Given the description of an element on the screen output the (x, y) to click on. 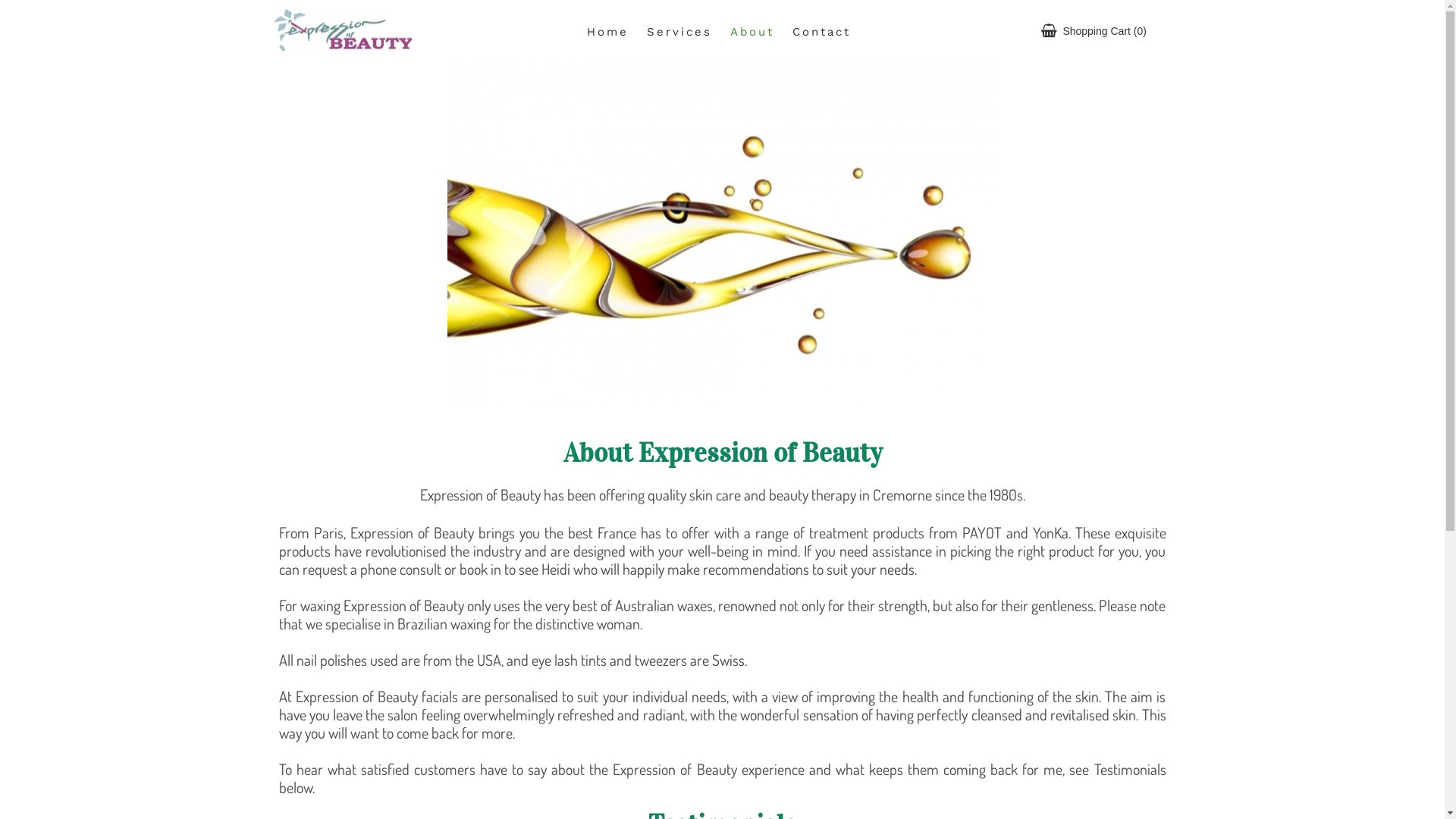
Home Element type: text (607, 32)
About Element type: text (751, 32)
Services Element type: text (678, 32)
Contact Element type: text (820, 32)
